Given the description of an element on the screen output the (x, y) to click on. 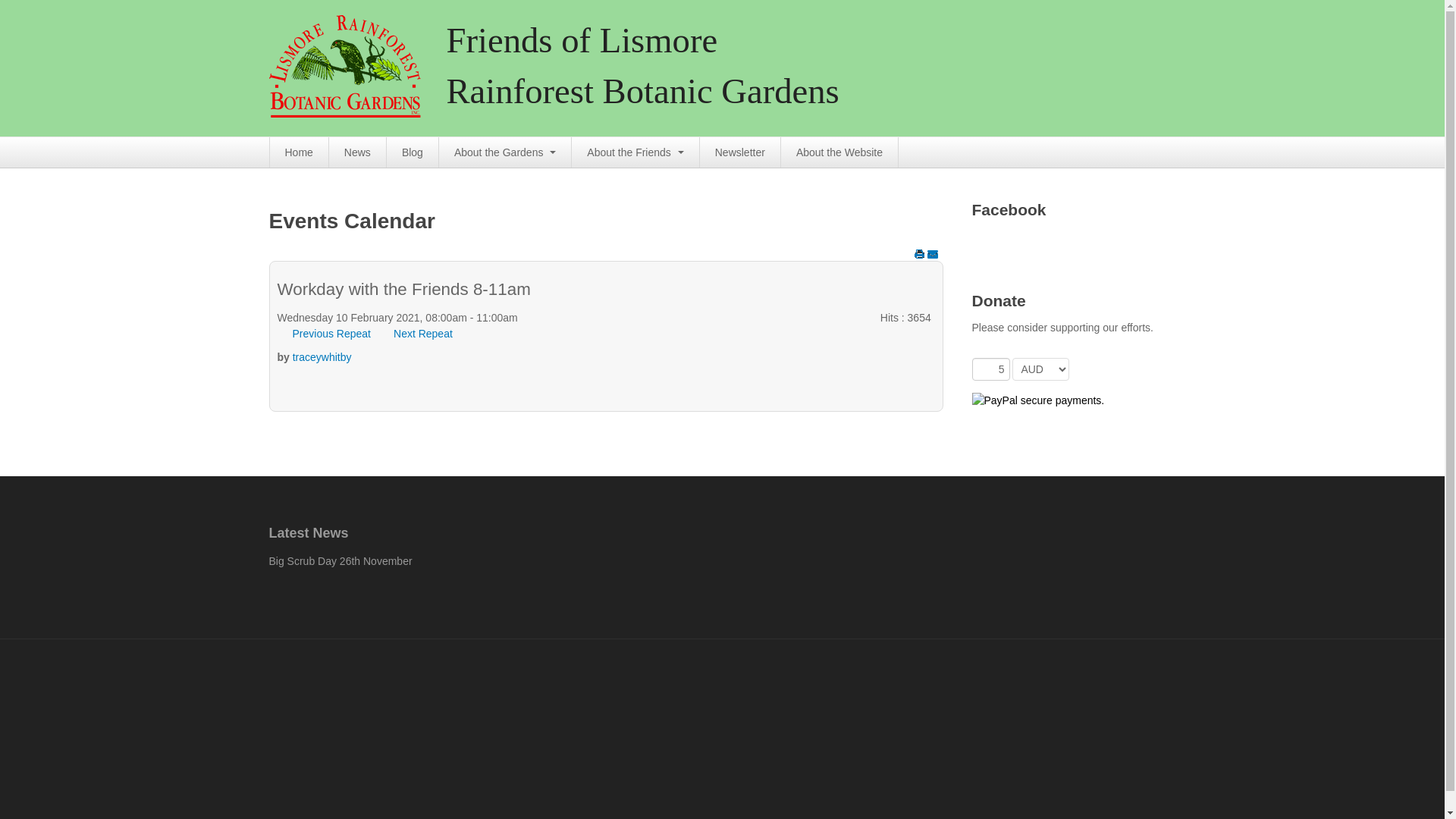
Print Element type: hover (919, 253)
traceywhitby Element type: text (321, 357)
EMAIL Element type: hover (931, 253)
Friends of Lismore Rainforest Botanic Gardens Element type: hover (356, 66)
Newsletter Element type: text (740, 152)
About the Friends Element type: text (635, 152)
Big Scrub Day 26th November Element type: text (339, 561)
Home Element type: text (299, 152)
About the Gardens Element type: text (505, 152)
Proudly Supported by Element type: text (1099, 695)
About the Website Element type: text (839, 152)
Blog Element type: text (412, 152)
Powered by Element type: text (474, 748)
Next Repeat Element type: text (430, 333)
News Element type: text (357, 152)
Previous Repeat Element type: text (324, 333)
